Given the description of an element on the screen output the (x, y) to click on. 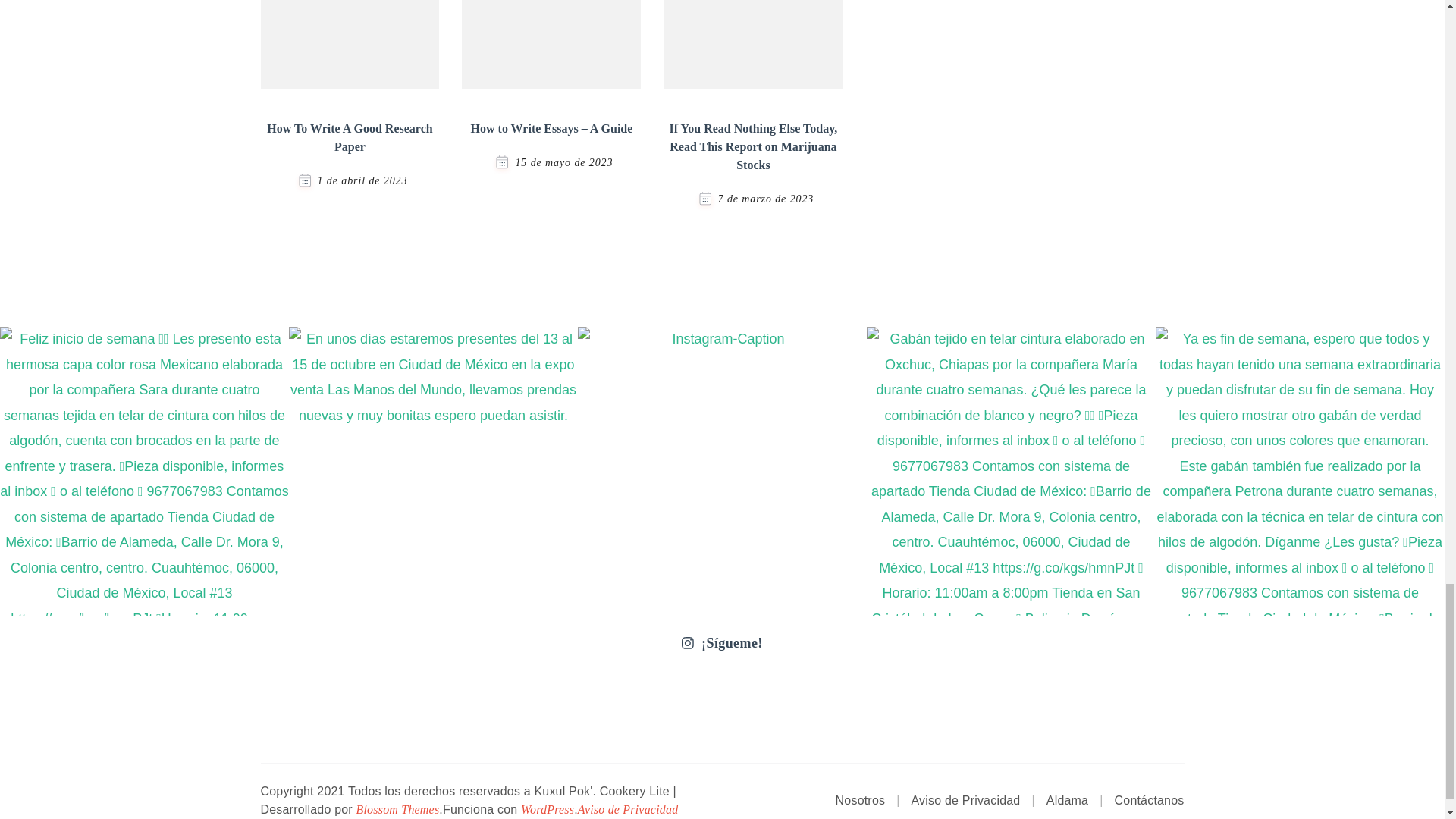
1 de abril de 2023 (362, 180)
15 de mayo de 2023 (563, 162)
How To Write A Good Research Paper (349, 137)
